Given the description of an element on the screen output the (x, y) to click on. 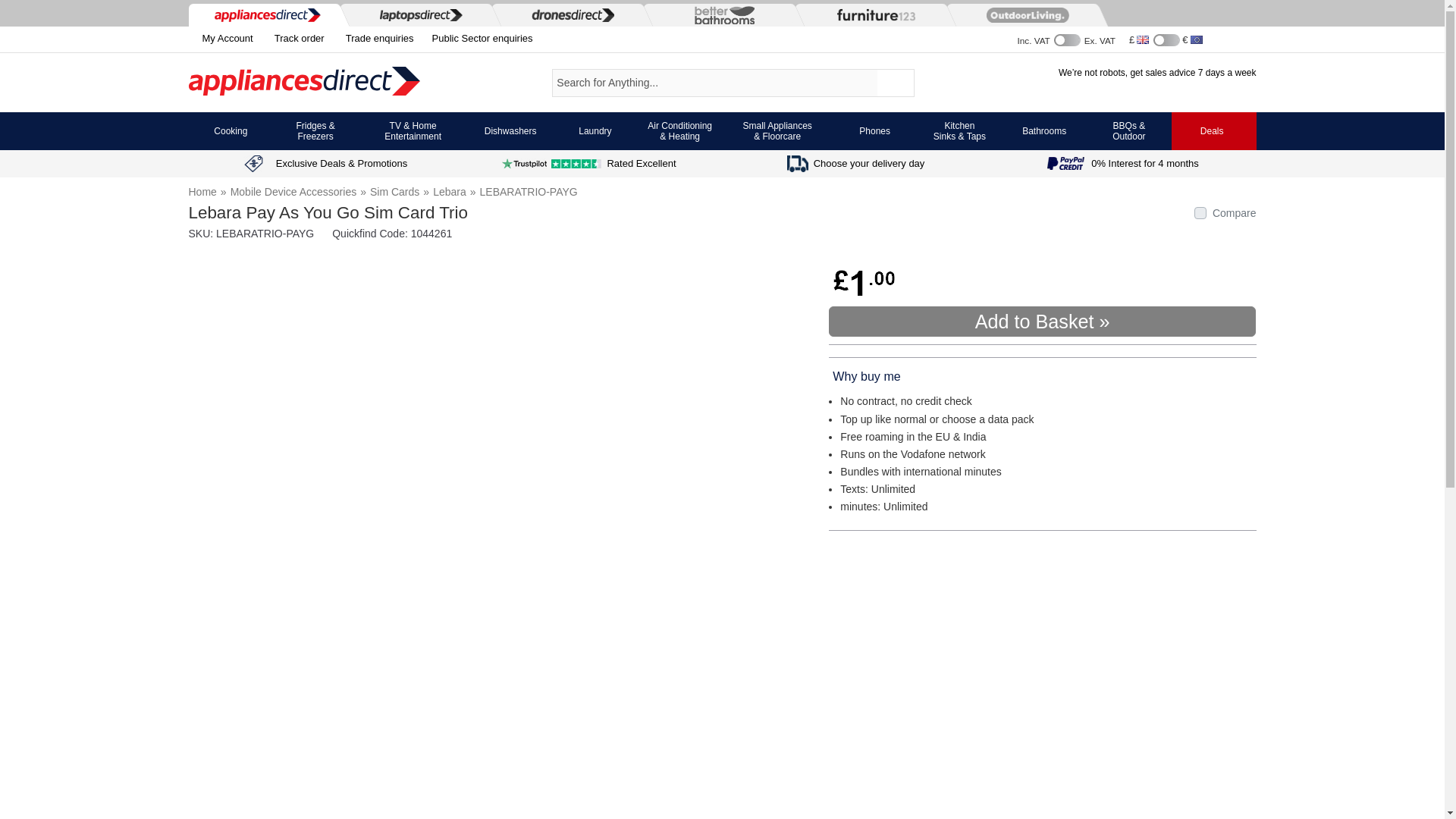
Cooking (230, 130)
My Account (219, 38)
Track order (295, 38)
Furniture 123 (871, 14)
Trade Enquiries (479, 38)
Trade Enquiries (376, 38)
Drones Direct (569, 14)
Appliances Direct Order Tracking (295, 38)
